Given the description of an element on the screen output the (x, y) to click on. 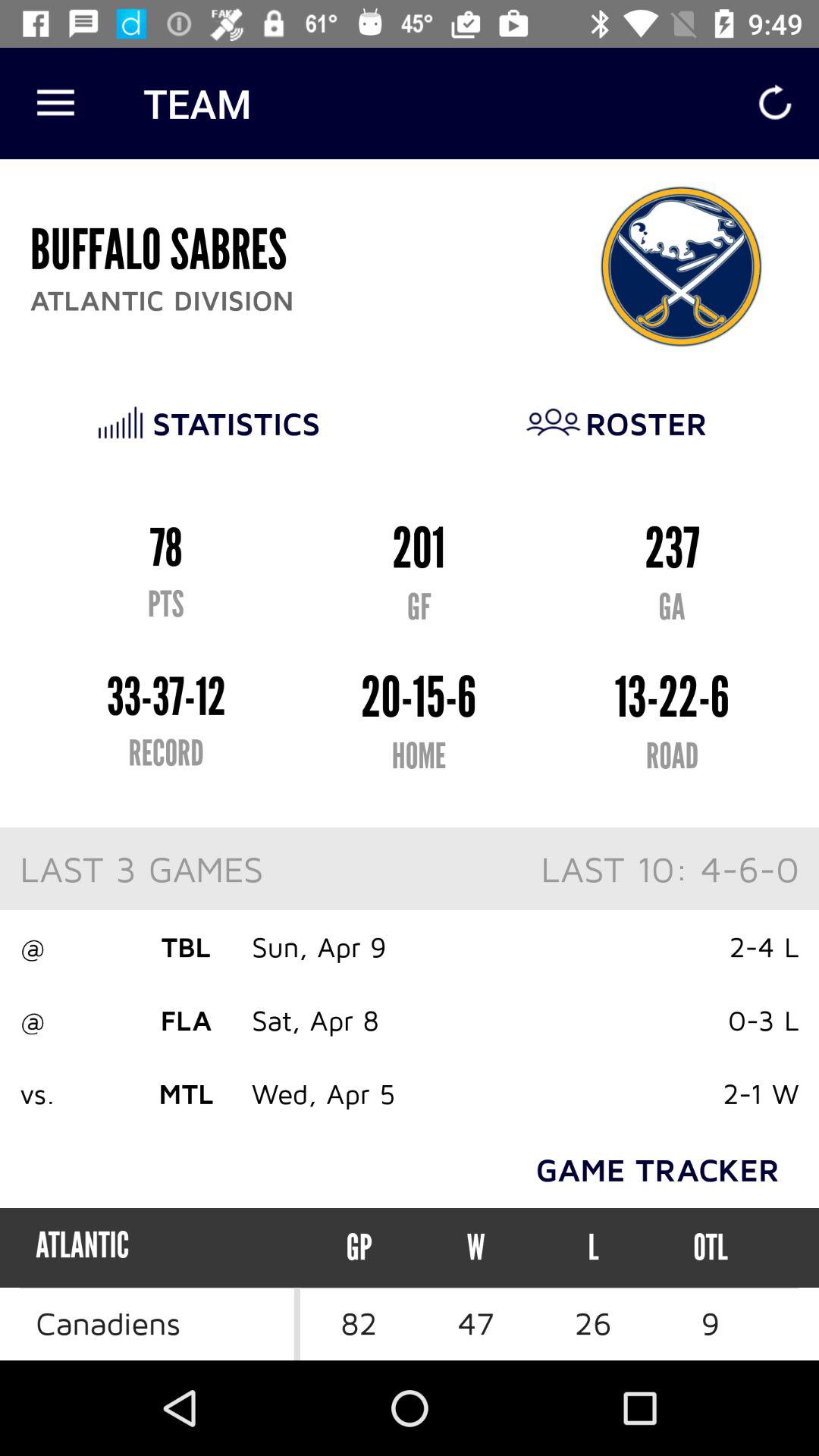
flip to the otl icon (709, 1247)
